Given the description of an element on the screen output the (x, y) to click on. 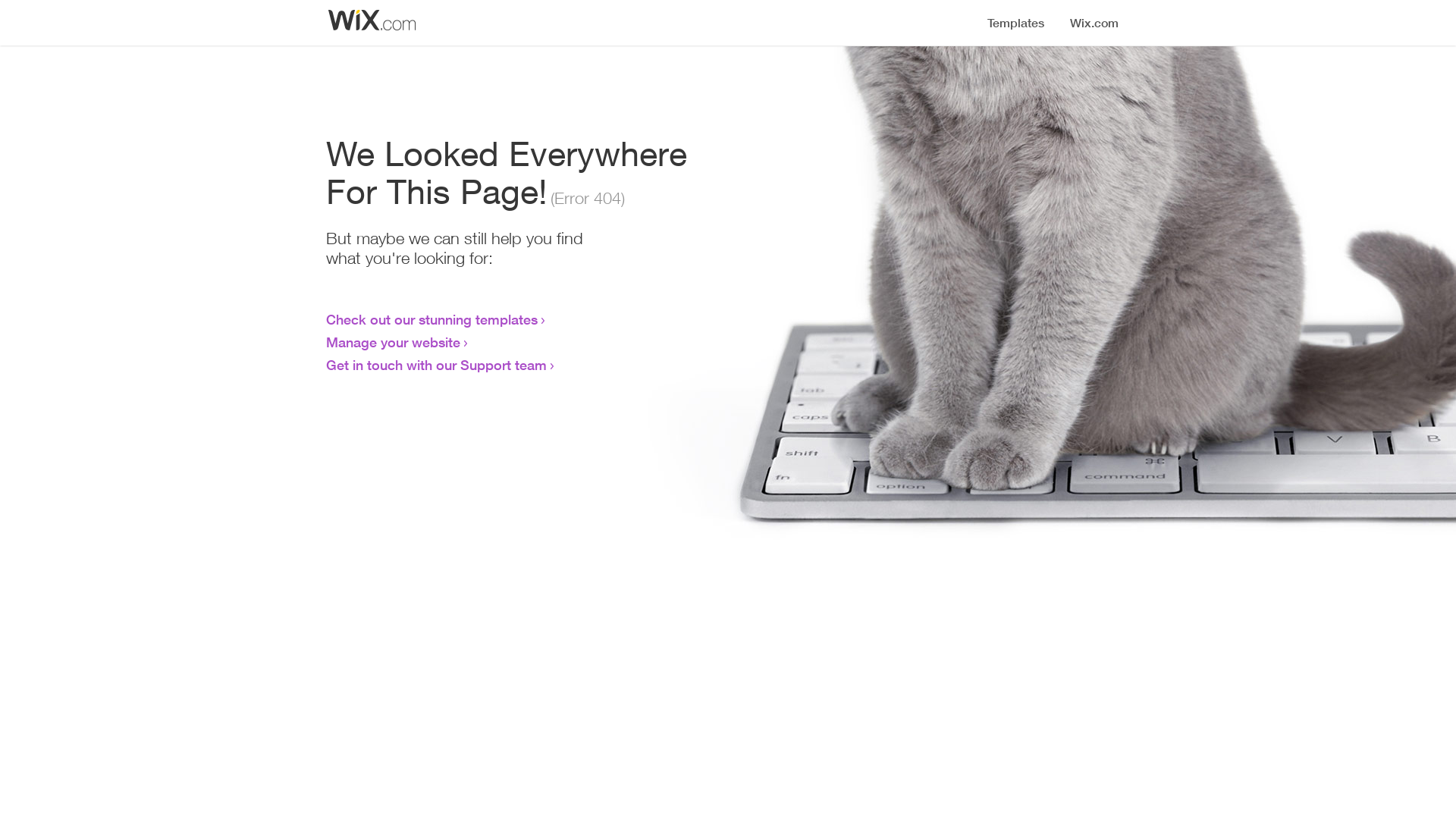
Get in touch with our Support team Element type: text (436, 364)
Check out our stunning templates Element type: text (431, 318)
Manage your website Element type: text (393, 341)
